Given the description of an element on the screen output the (x, y) to click on. 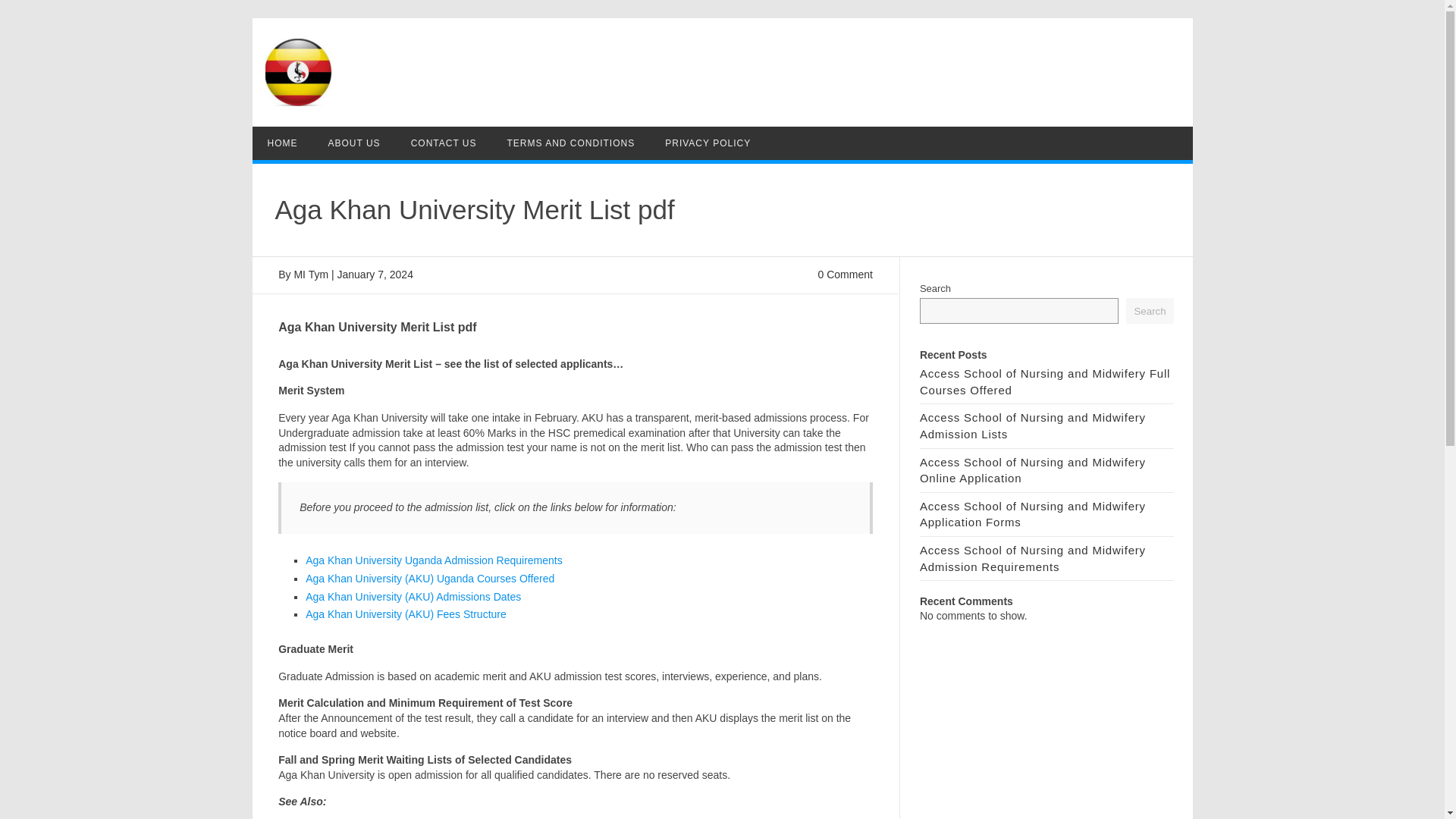
PRIVACY POLICY (707, 142)
TERMS AND CONDITIONS (571, 142)
Access School of Nursing and Midwifery Full Courses Offered (1045, 381)
Posts by MI Tym (311, 274)
0 Comment (845, 274)
Aga Khan University Uganda Admission Requirements (433, 560)
MI Tym (311, 274)
Search (1149, 310)
ABOUT US (353, 142)
HOME (282, 142)
CONTACT US (444, 142)
